Given the description of an element on the screen output the (x, y) to click on. 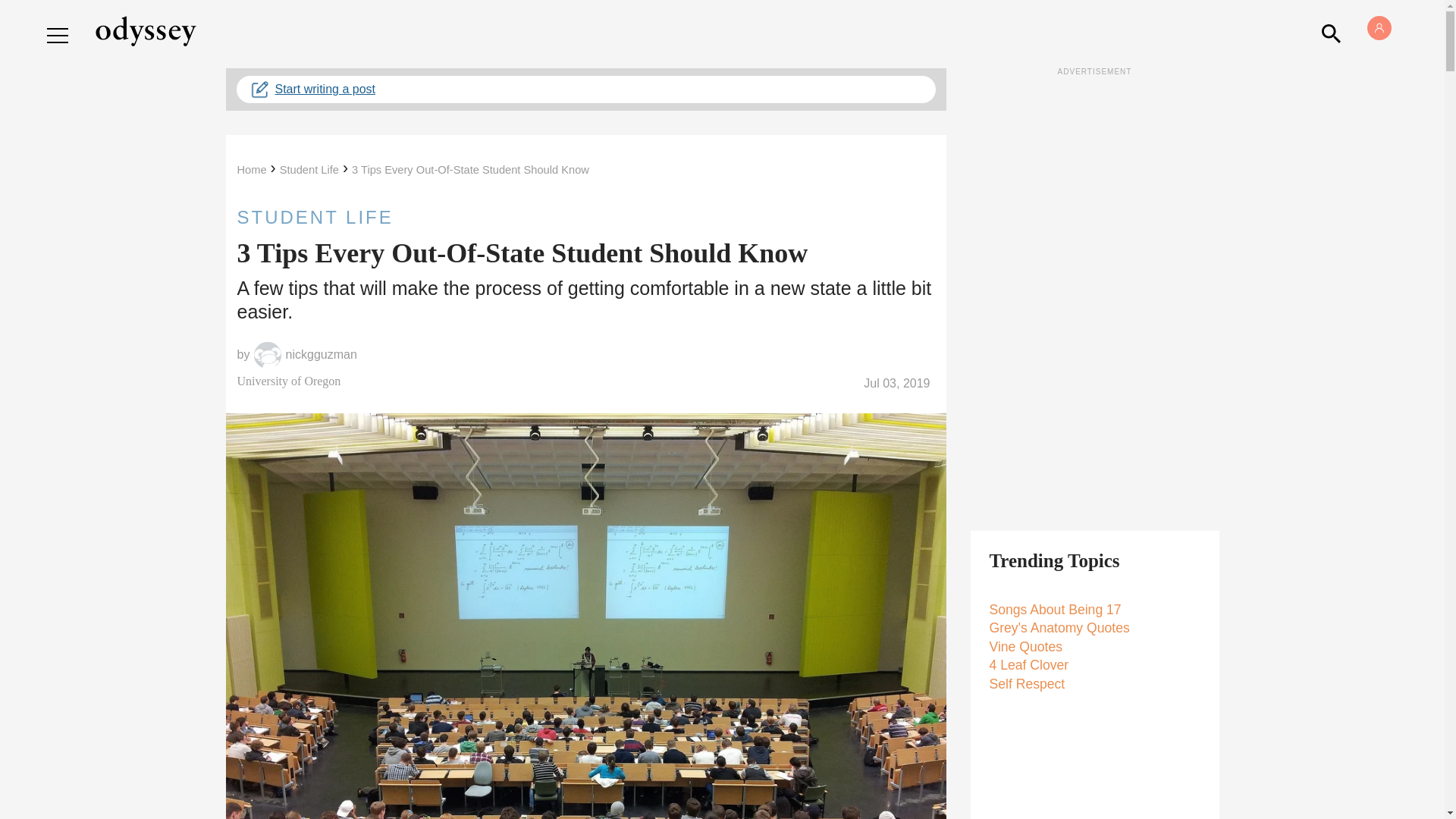
Home (250, 169)
Student Life (309, 169)
nickgguzman (320, 354)
3 Tips Every Out-Of-State Student Should Know (470, 169)
STUDENT LIFE (584, 217)
Start writing a post (585, 89)
